Given the description of an element on the screen output the (x, y) to click on. 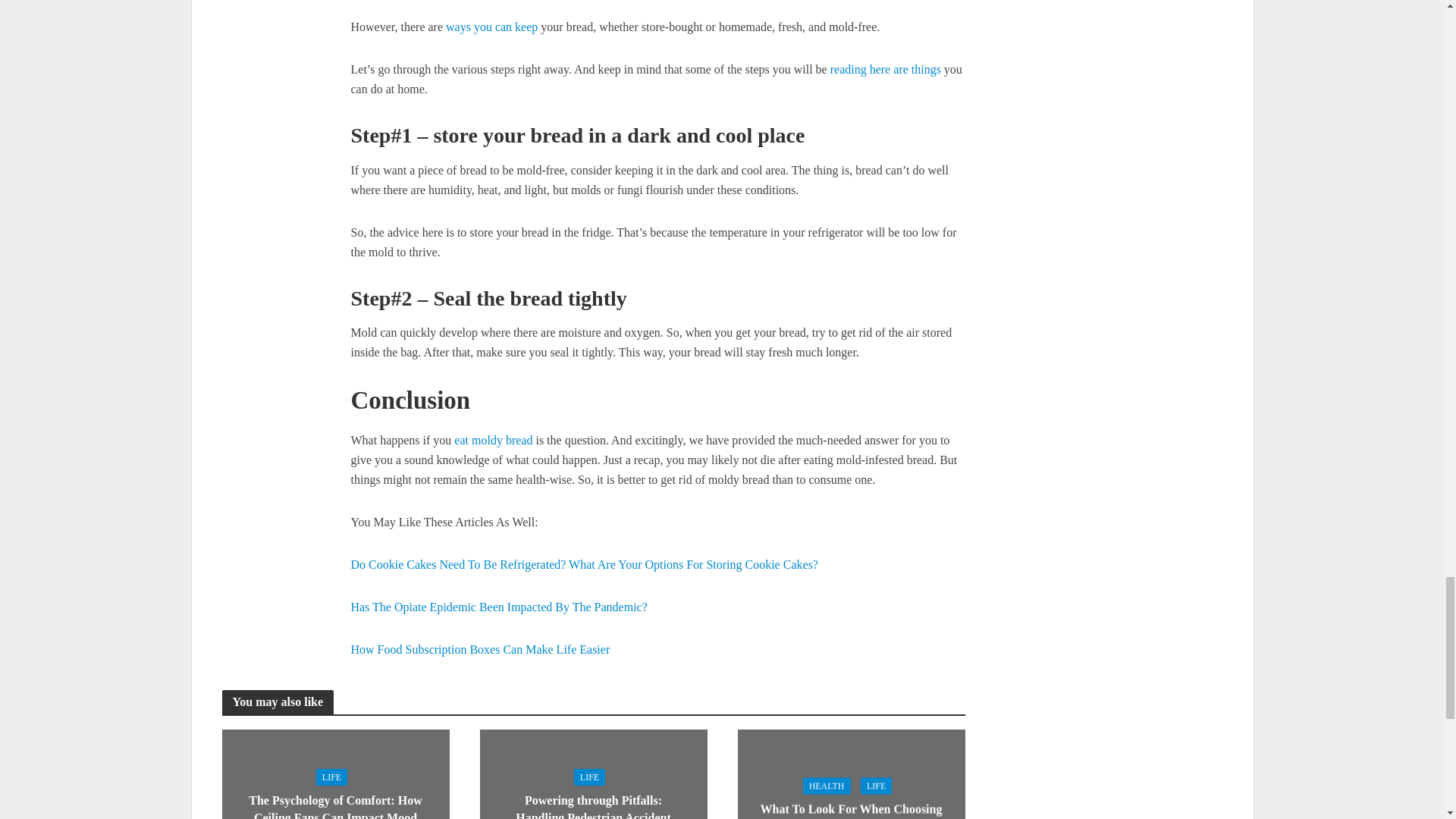
What To Look For When Choosing Hearing Aids (849, 802)
